Given the description of an element on the screen output the (x, y) to click on. 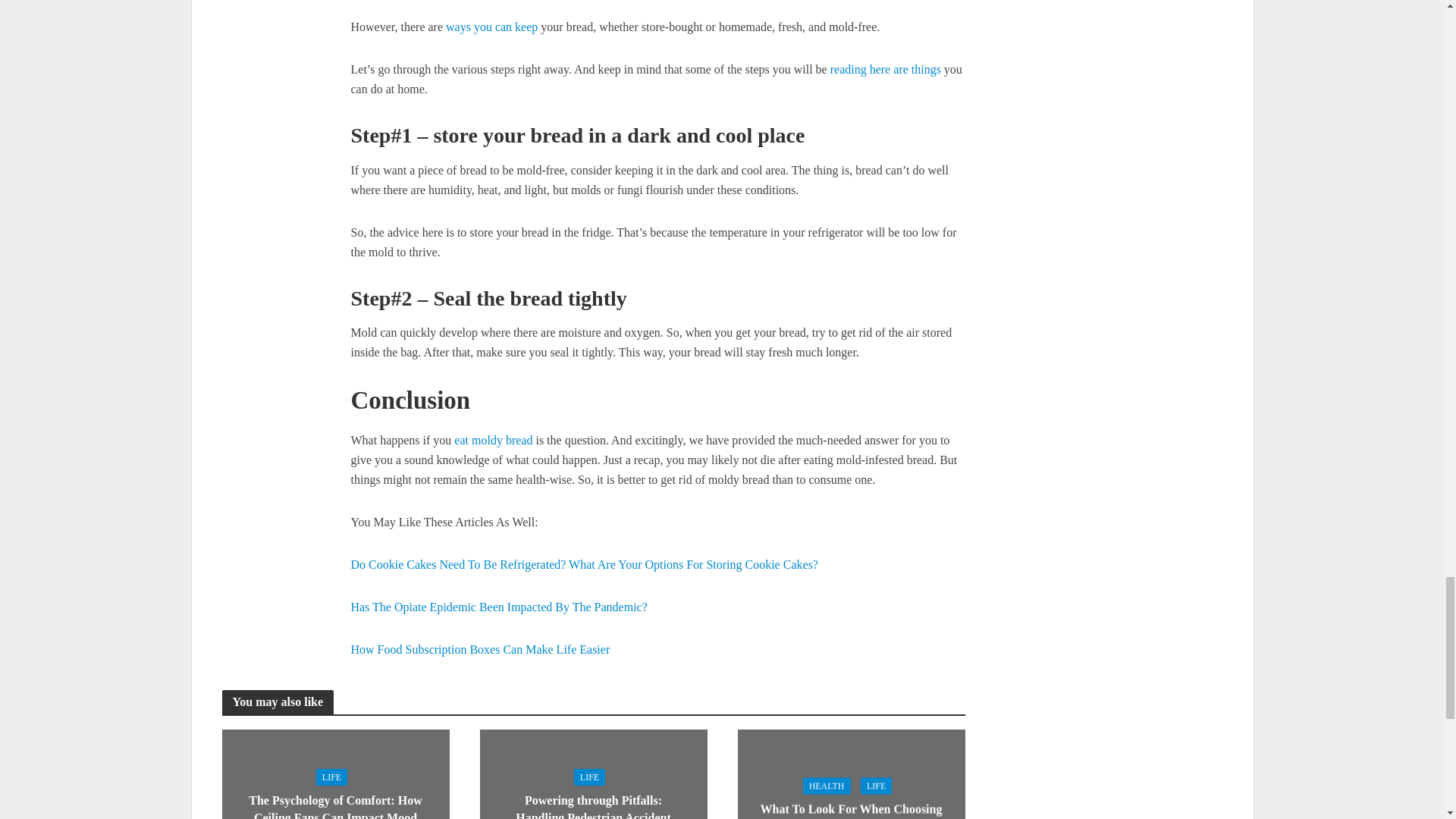
What To Look For When Choosing Hearing Aids (849, 802)
